Given the description of an element on the screen output the (x, y) to click on. 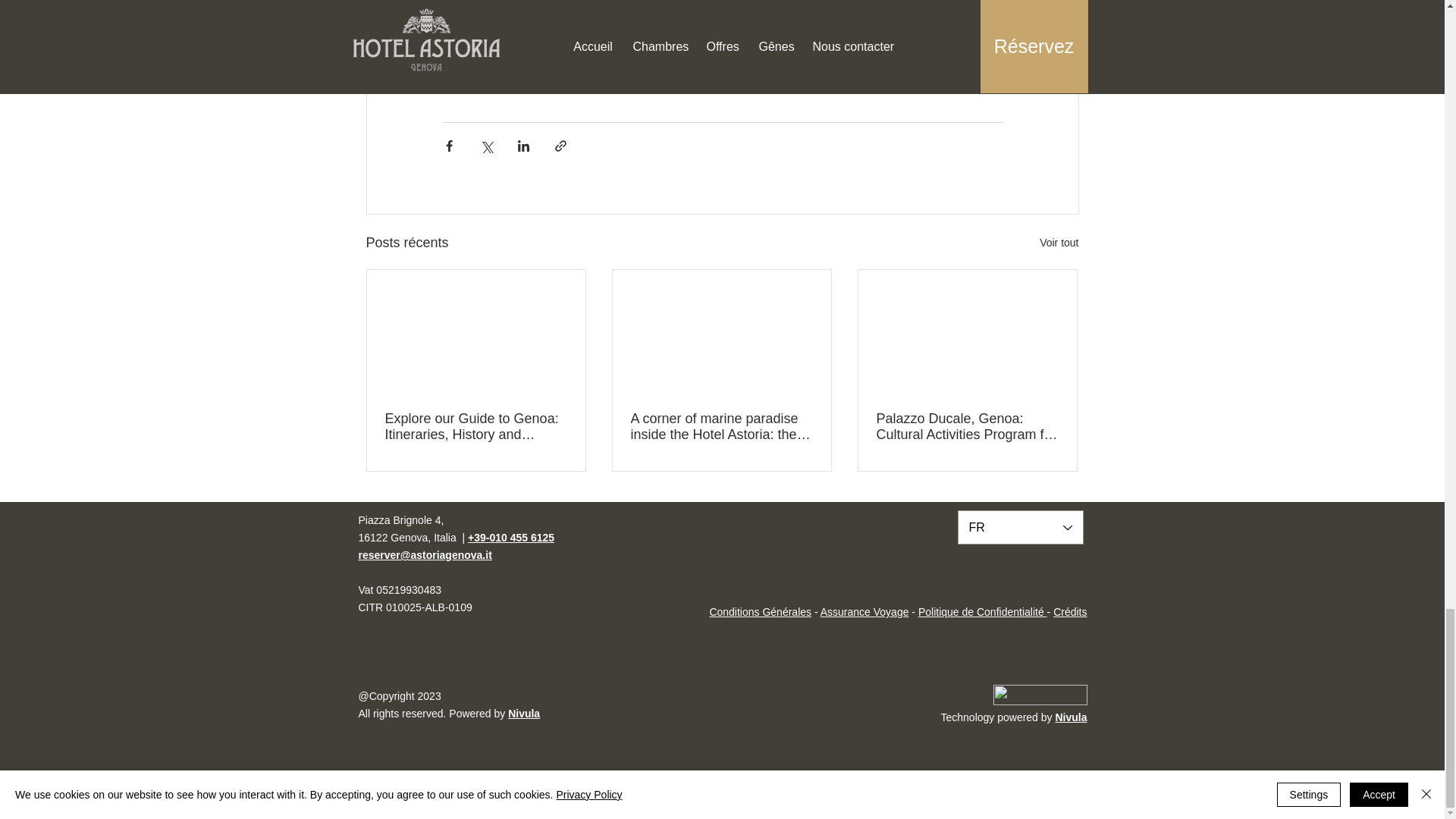
DIALOGO BIANCO-07.png (1039, 694)
Voir tout (1058, 242)
Assurance Voyage (864, 612)
